Given the description of an element on the screen output the (x, y) to click on. 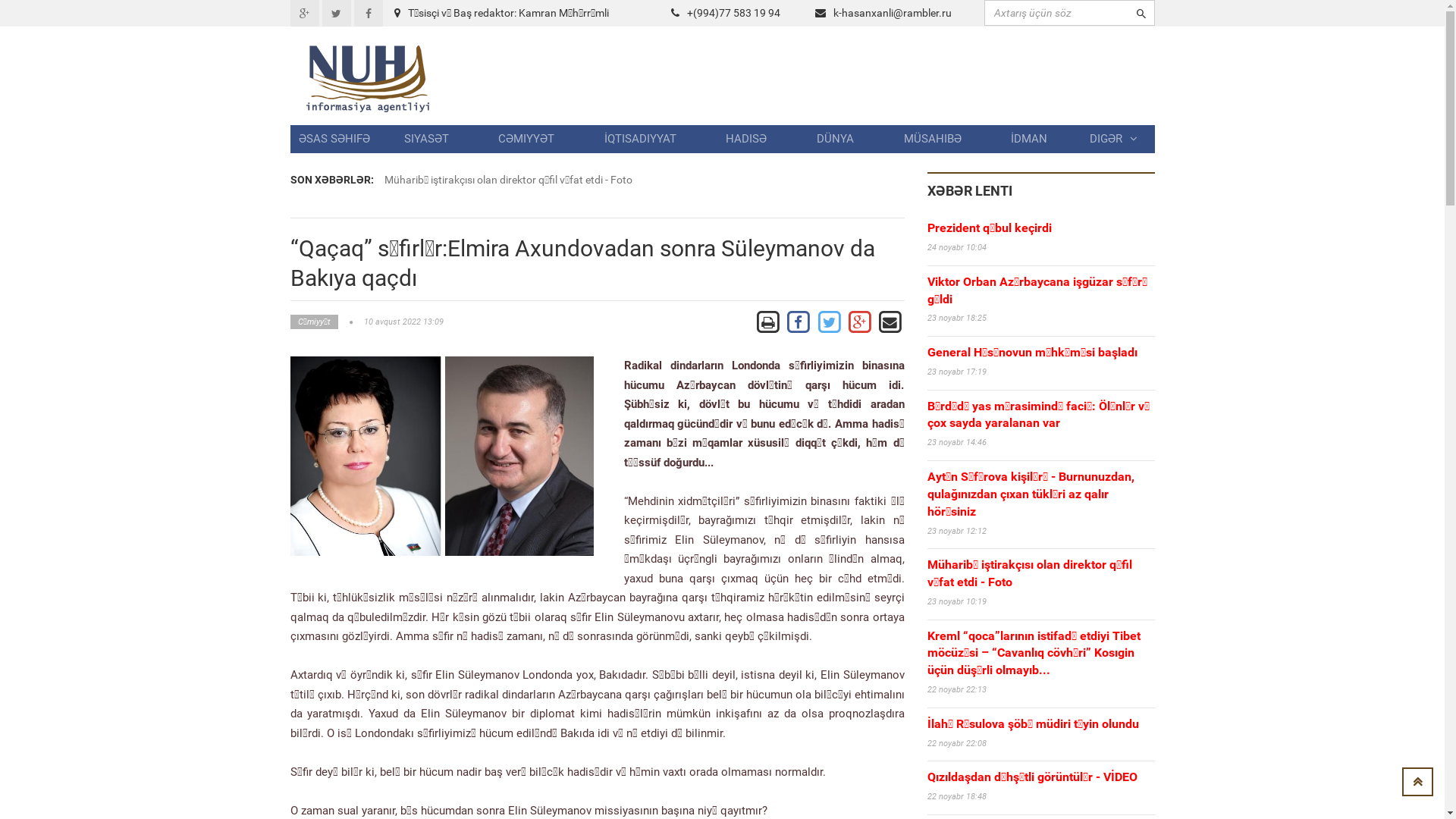
k-hasanxanli@rambler.ru Element type: text (891, 12)
